Given the description of an element on the screen output the (x, y) to click on. 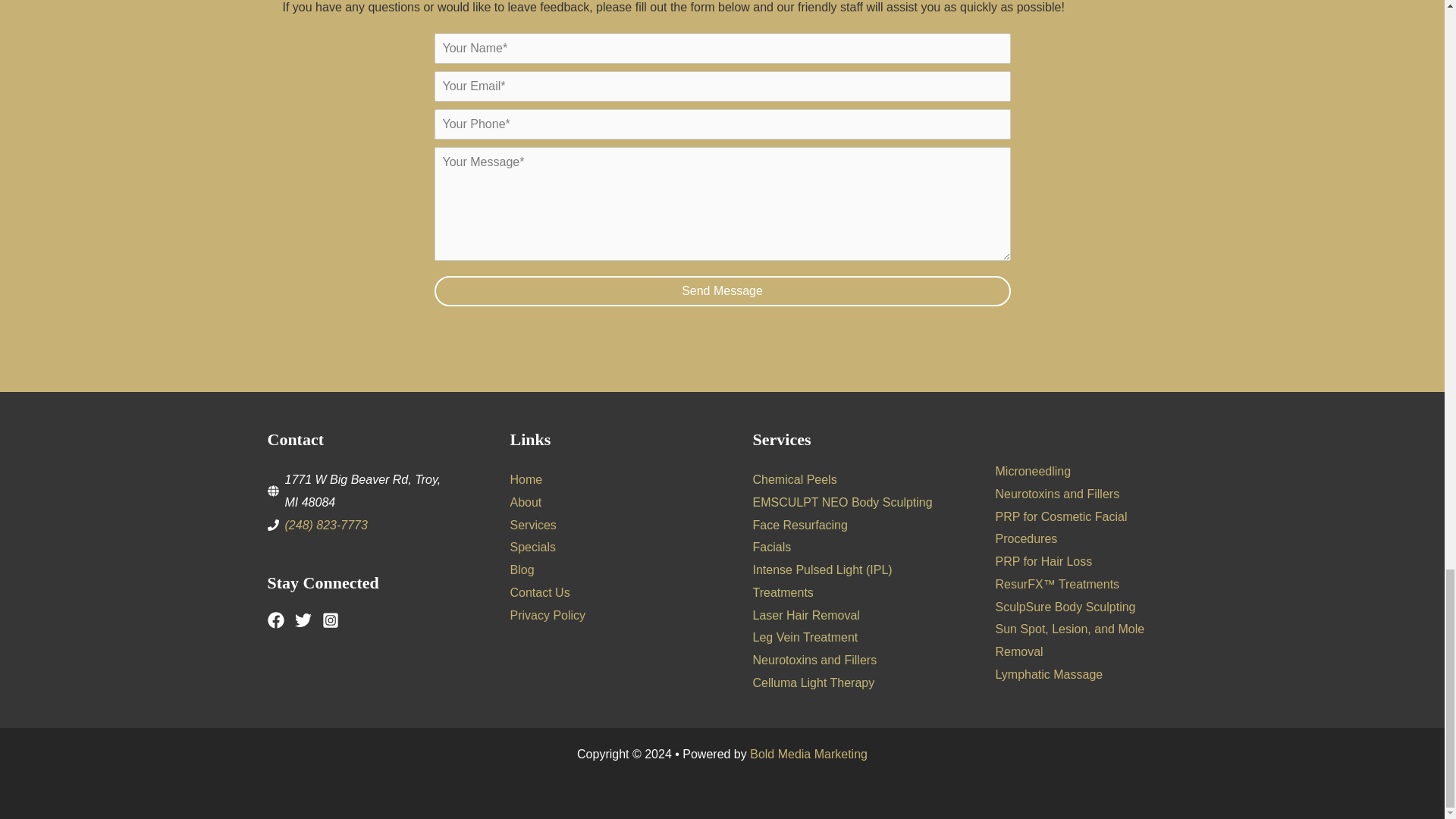
Send Message (721, 291)
